Given the description of an element on the screen output the (x, y) to click on. 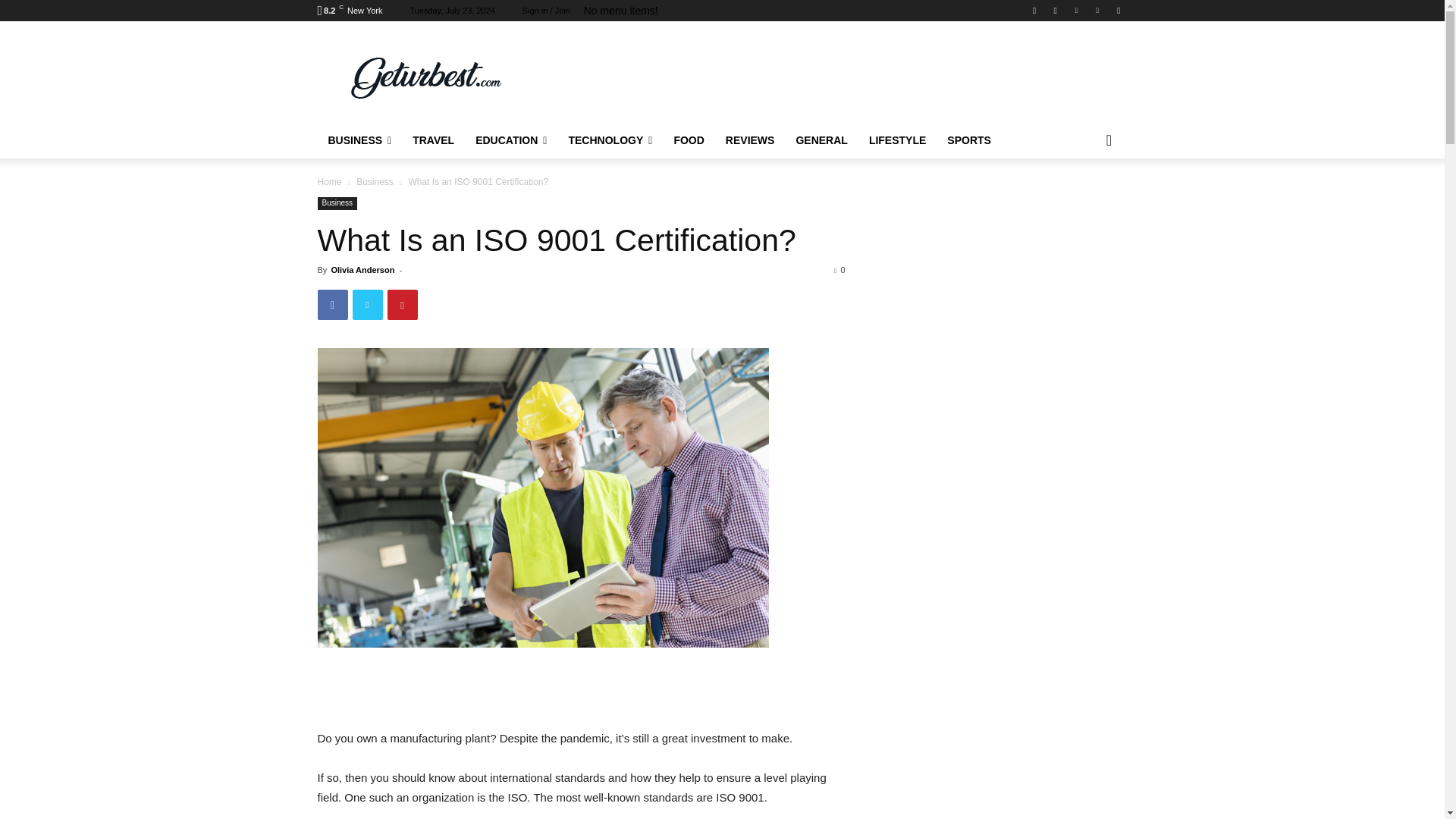
Advertisement (580, 689)
Advertisement (846, 76)
View all posts in Business (374, 181)
